Given the description of an element on the screen output the (x, y) to click on. 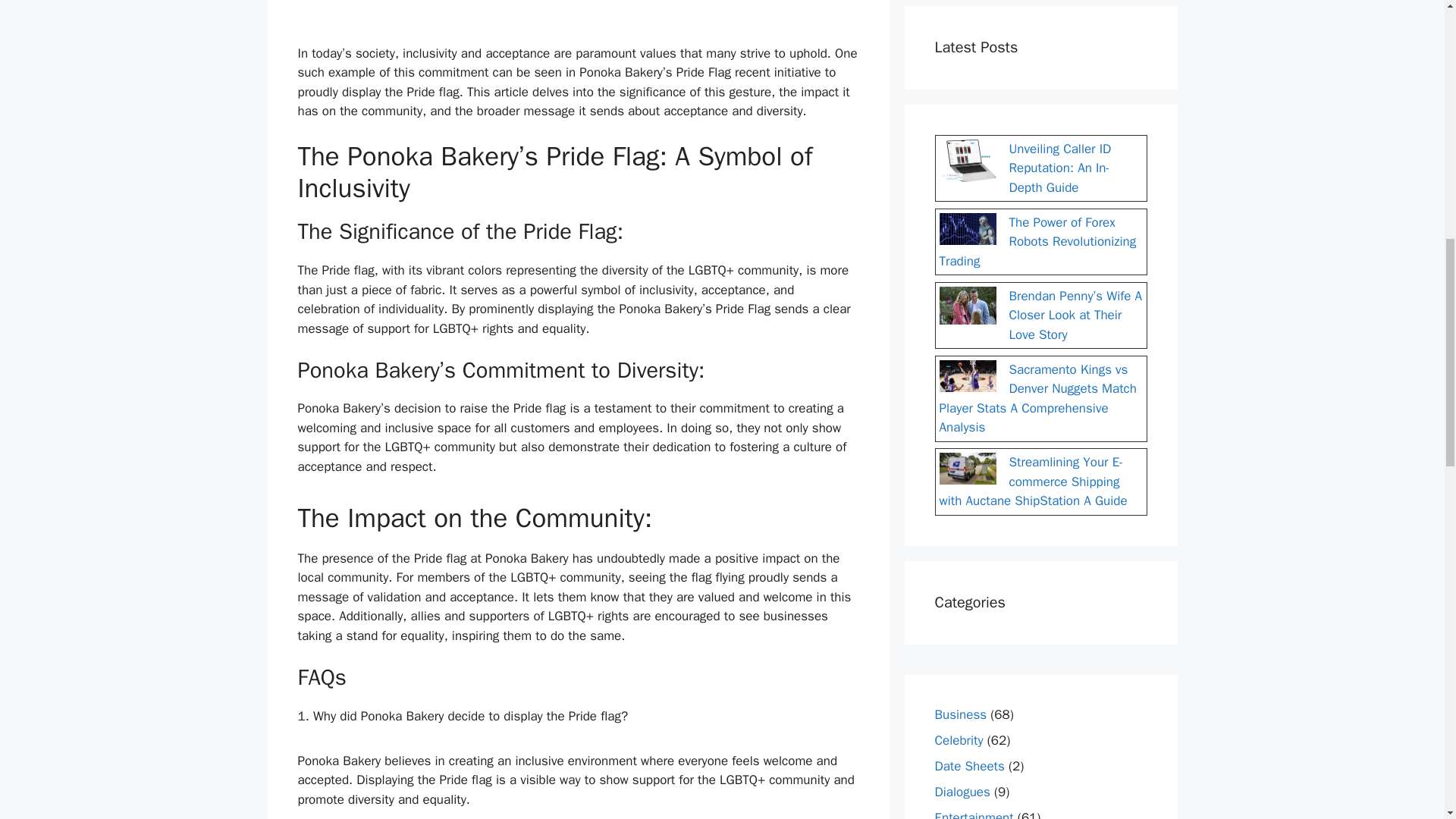
Business (960, 714)
Advertisement (578, 18)
Scroll back to top (1406, 720)
Celebrity (958, 740)
The Power of Forex Robots Revolutionizing Trading (1037, 240)
Date Sheets (969, 765)
Entertainment (973, 814)
Unveiling Caller ID Reputation: An In-Depth Guide (1059, 167)
Dialogues (962, 791)
